Given the description of an element on the screen output the (x, y) to click on. 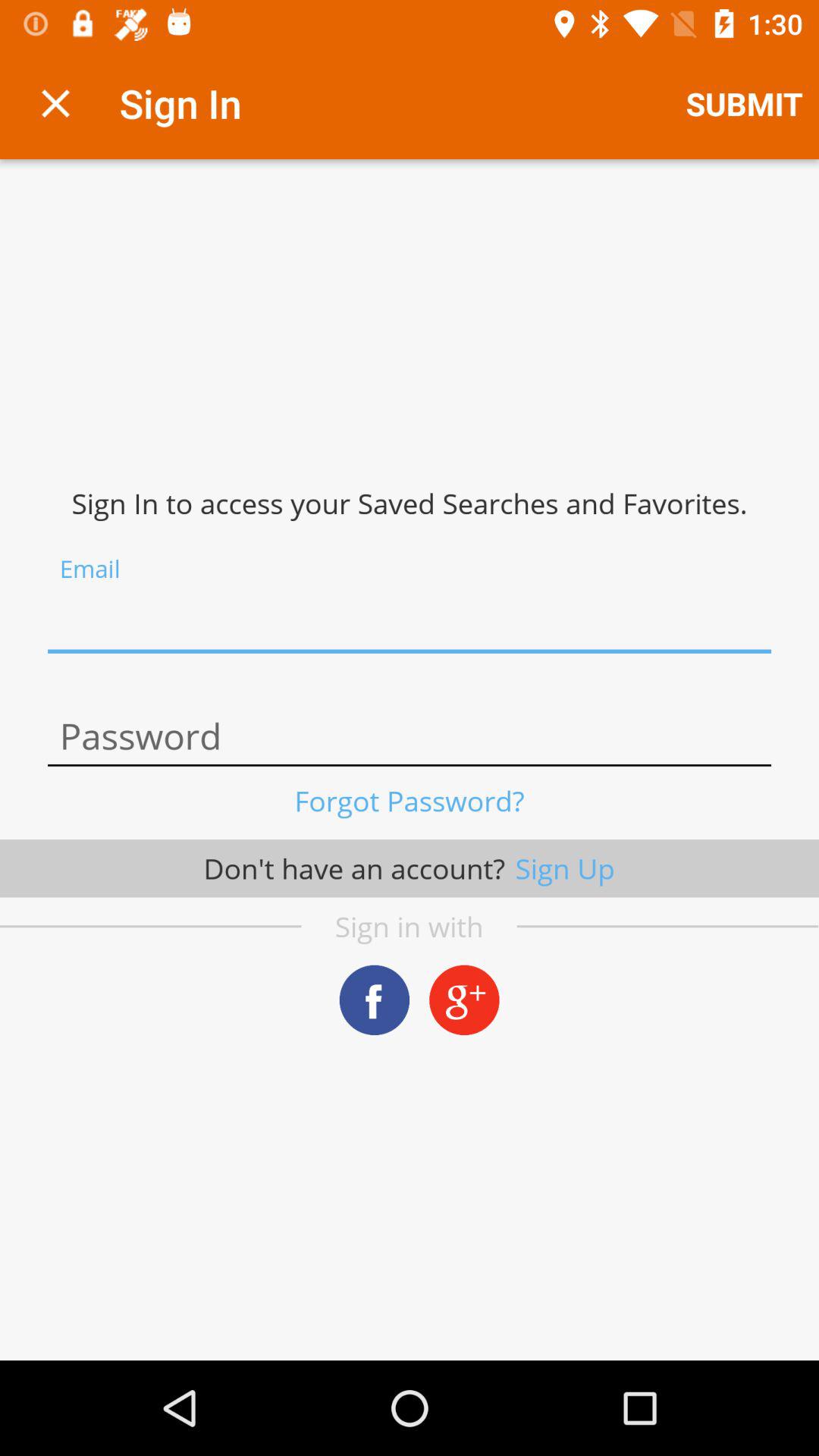
password option (409, 737)
